Given the description of an element on the screen output the (x, y) to click on. 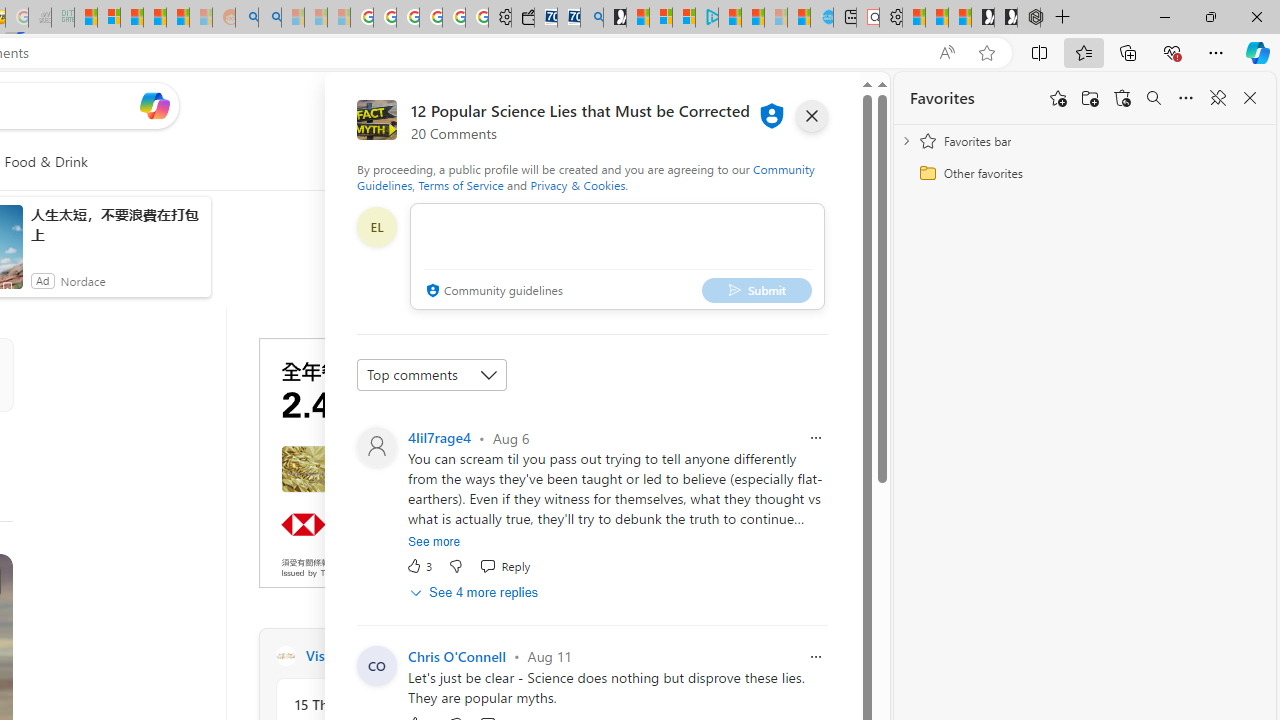
4lil7rage4 (439, 437)
Add folder (1089, 98)
